Given the description of an element on the screen output the (x, y) to click on. 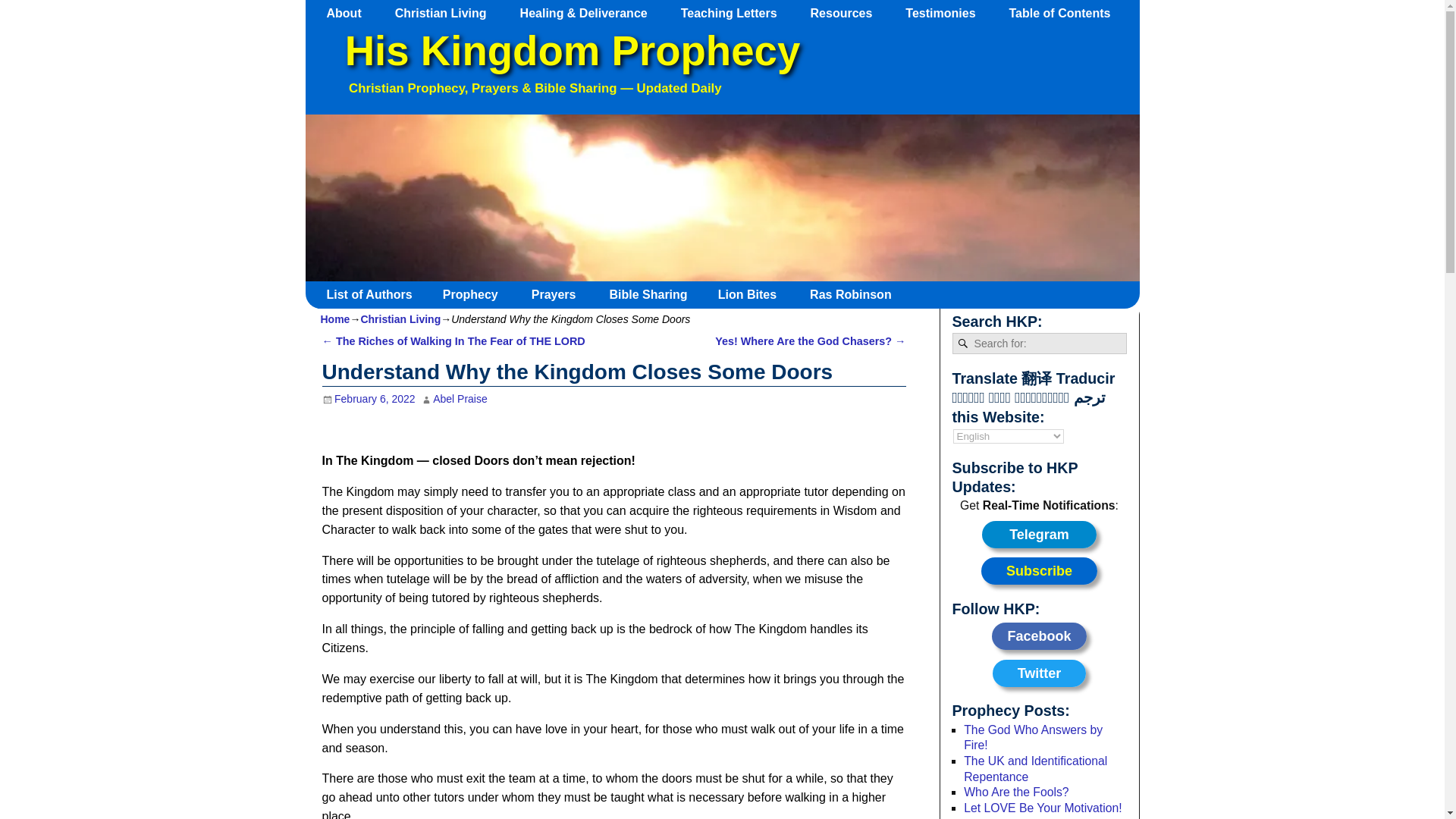
9:41 am (367, 398)
Testimonies (947, 13)
Teaching Letters (736, 13)
About (351, 13)
His Kingdom Prophecy (571, 50)
His Kingdom Prophecy (571, 50)
Christian Living (448, 13)
Resources (849, 13)
View all posts by Abel Praise (459, 398)
Table of Contents (1066, 13)
List of Authors (374, 294)
